Given the description of an element on the screen output the (x, y) to click on. 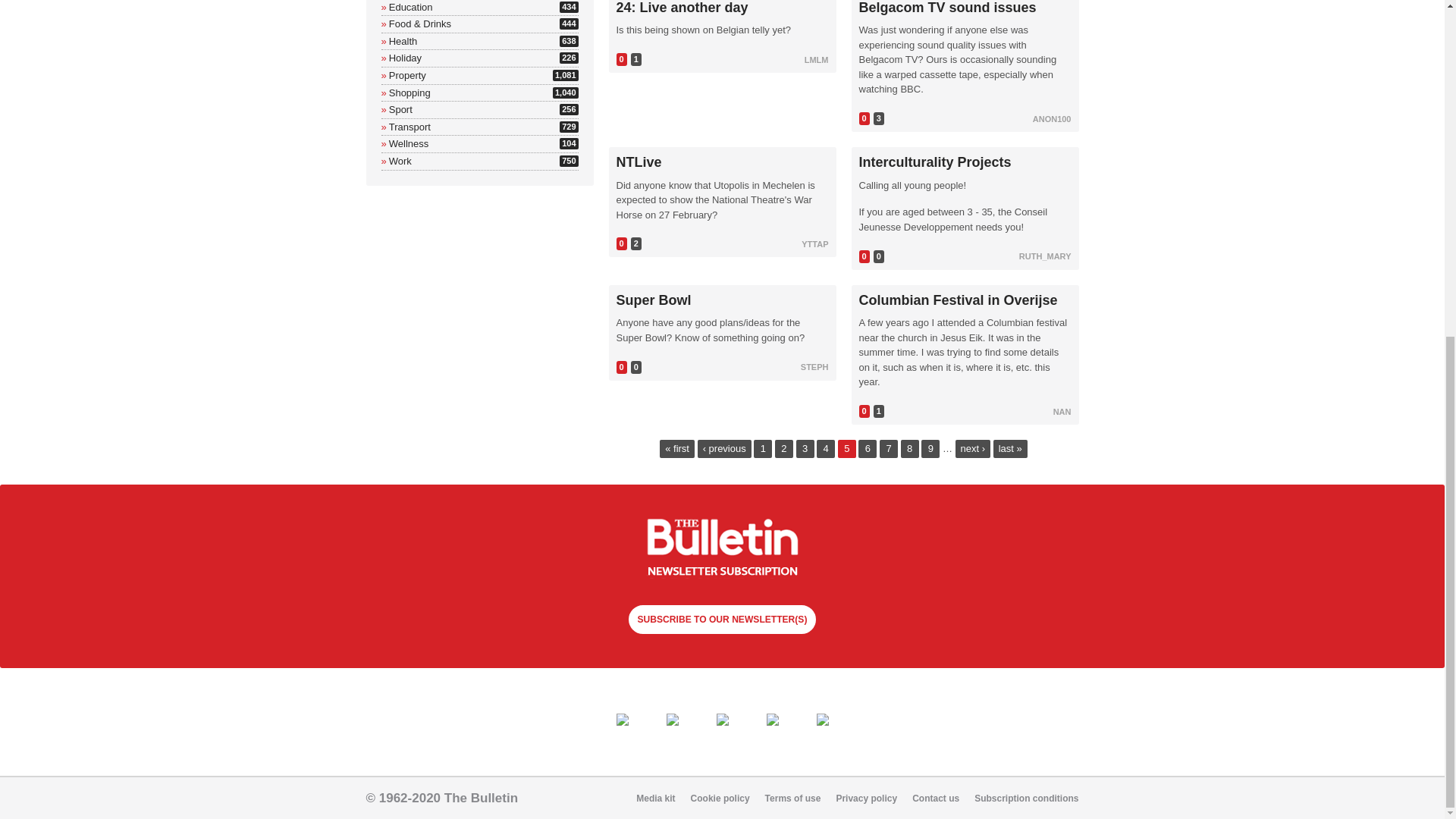
Go to last page (1009, 448)
Go to page 4 (825, 448)
Go to page 1 (762, 448)
Go to next page (973, 448)
Go to page 7 (888, 448)
Go to previous page (724, 448)
Go to page 8 (909, 448)
Go to first page (402, 41)
Go to page 6 (676, 448)
